Given the description of an element on the screen output the (x, y) to click on. 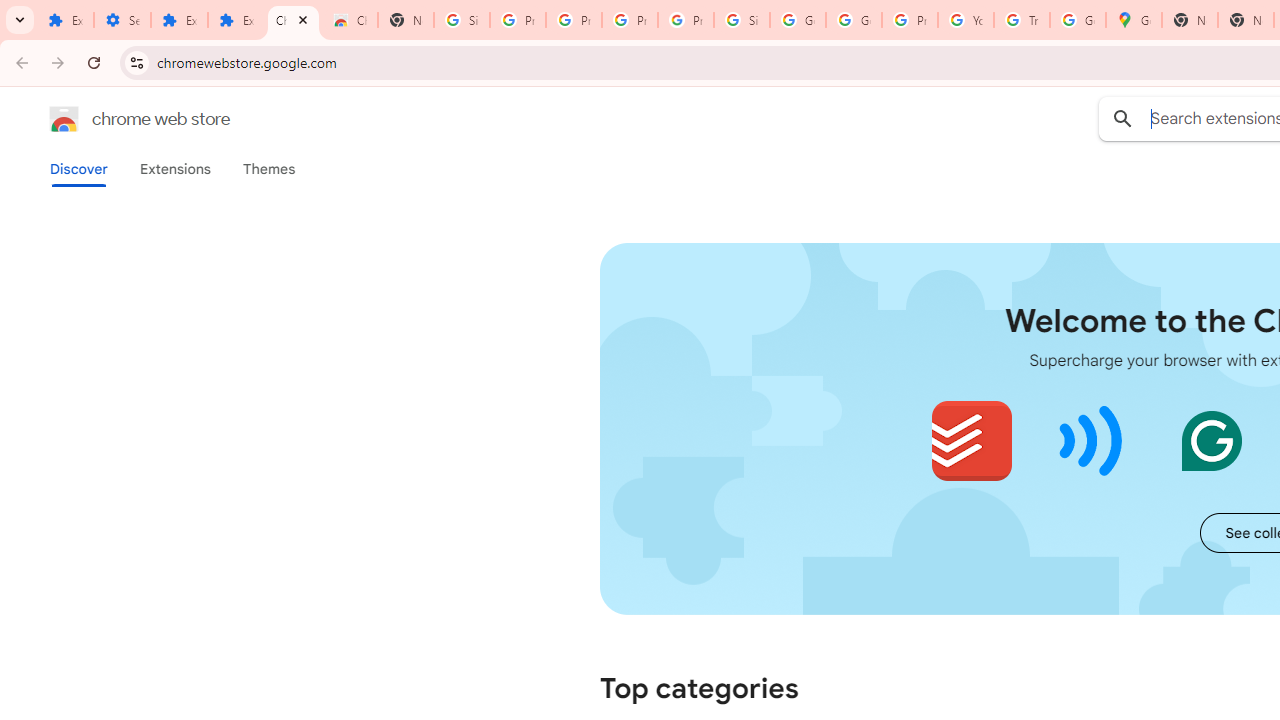
Todoist for Chrome (971, 440)
Chrome Web Store logo chrome web store (118, 118)
Discover (79, 169)
Volume Master (1091, 440)
Extensions (235, 20)
Chrome Web Store logo (63, 118)
Grammarly: AI Writing and Grammar Checker App (1211, 440)
Themes (269, 169)
